Given the description of an element on the screen output the (x, y) to click on. 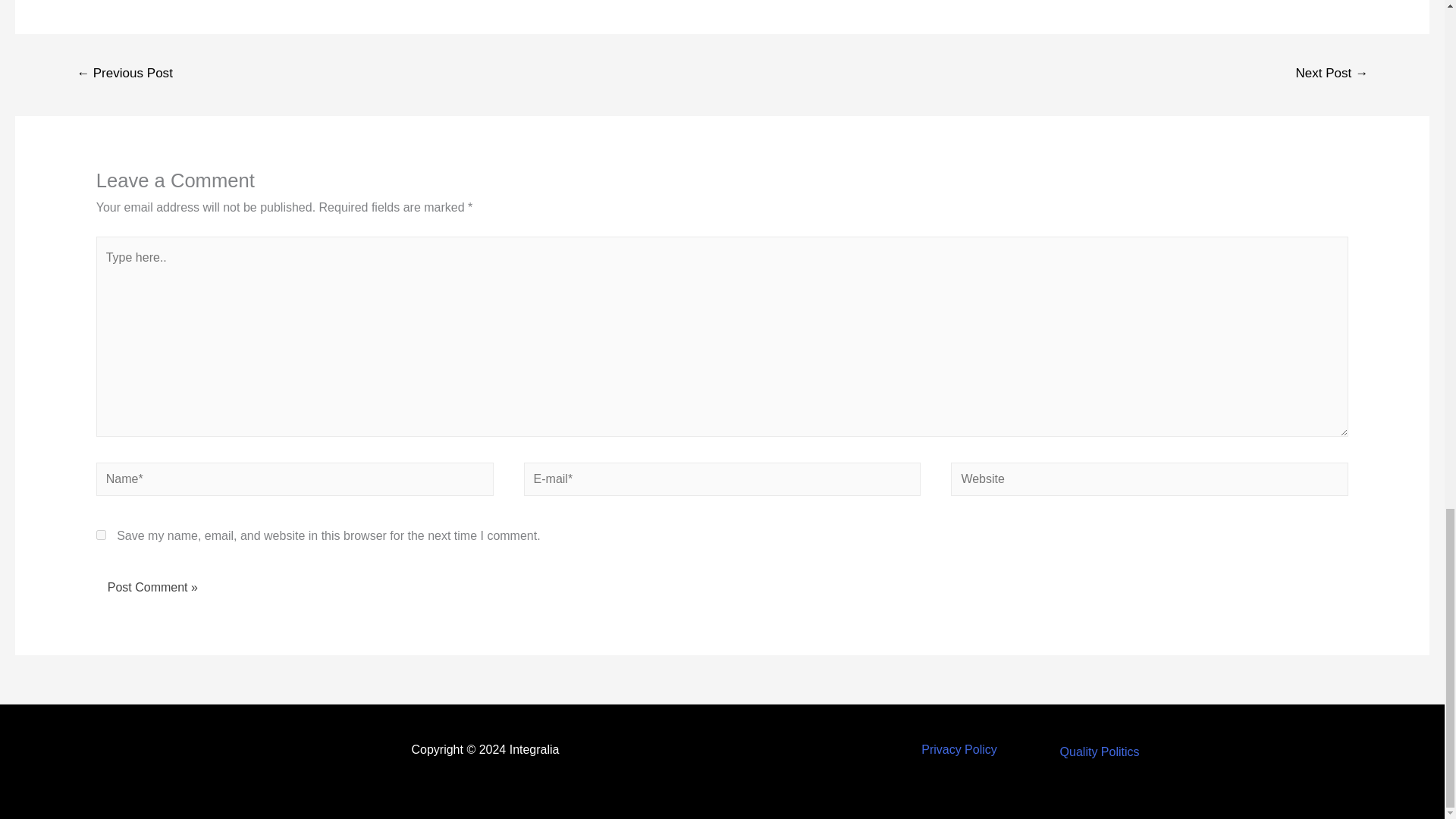
yes (101, 534)
Privacy Policy (959, 748)
Quality Politics (1099, 751)
